Given the description of an element on the screen output the (x, y) to click on. 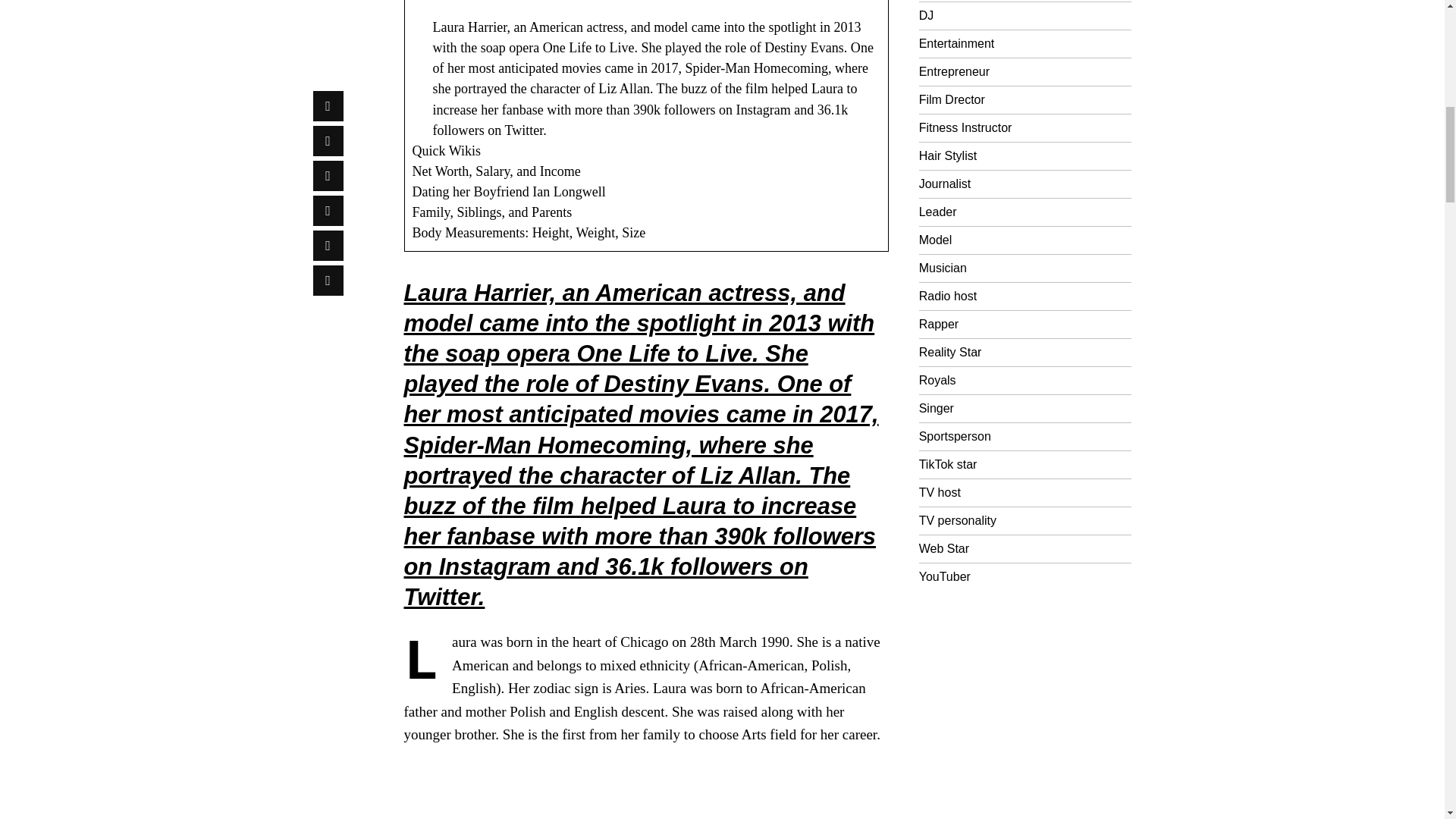
Email (327, 163)
Pinterest (327, 92)
Dating her Boyfriend Ian Longwell (508, 191)
Family, Siblings, and Parents (492, 212)
Messenger (327, 23)
Whatsapp (327, 128)
Quick Wikis (446, 150)
Twitter (327, 58)
Body Measurements: Height, Weight, Size (529, 232)
Net Worth, Salary, and Income (496, 171)
Facebook (327, 2)
